Given the description of an element on the screen output the (x, y) to click on. 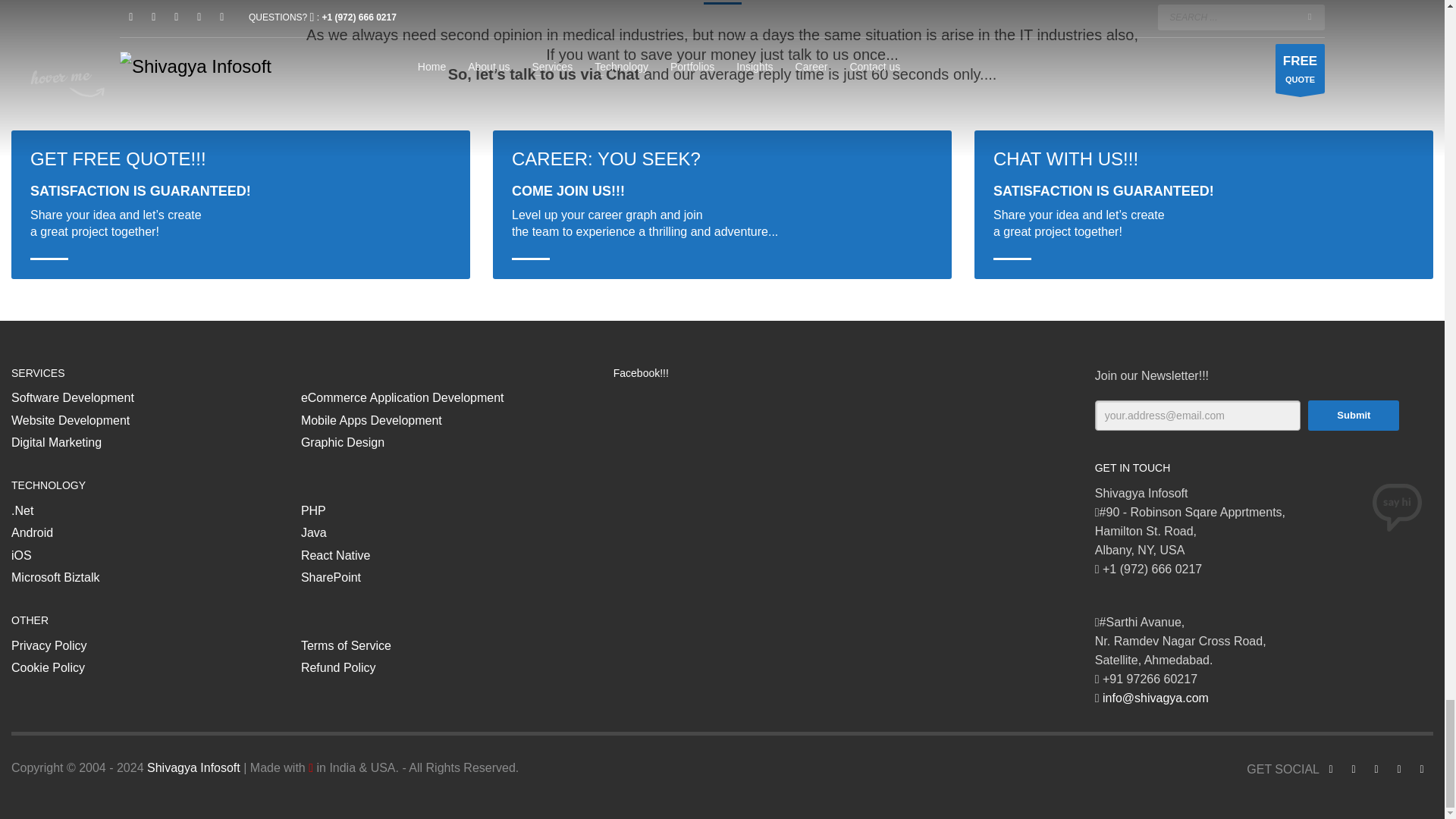
Submit (1353, 415)
